Given the description of an element on the screen output the (x, y) to click on. 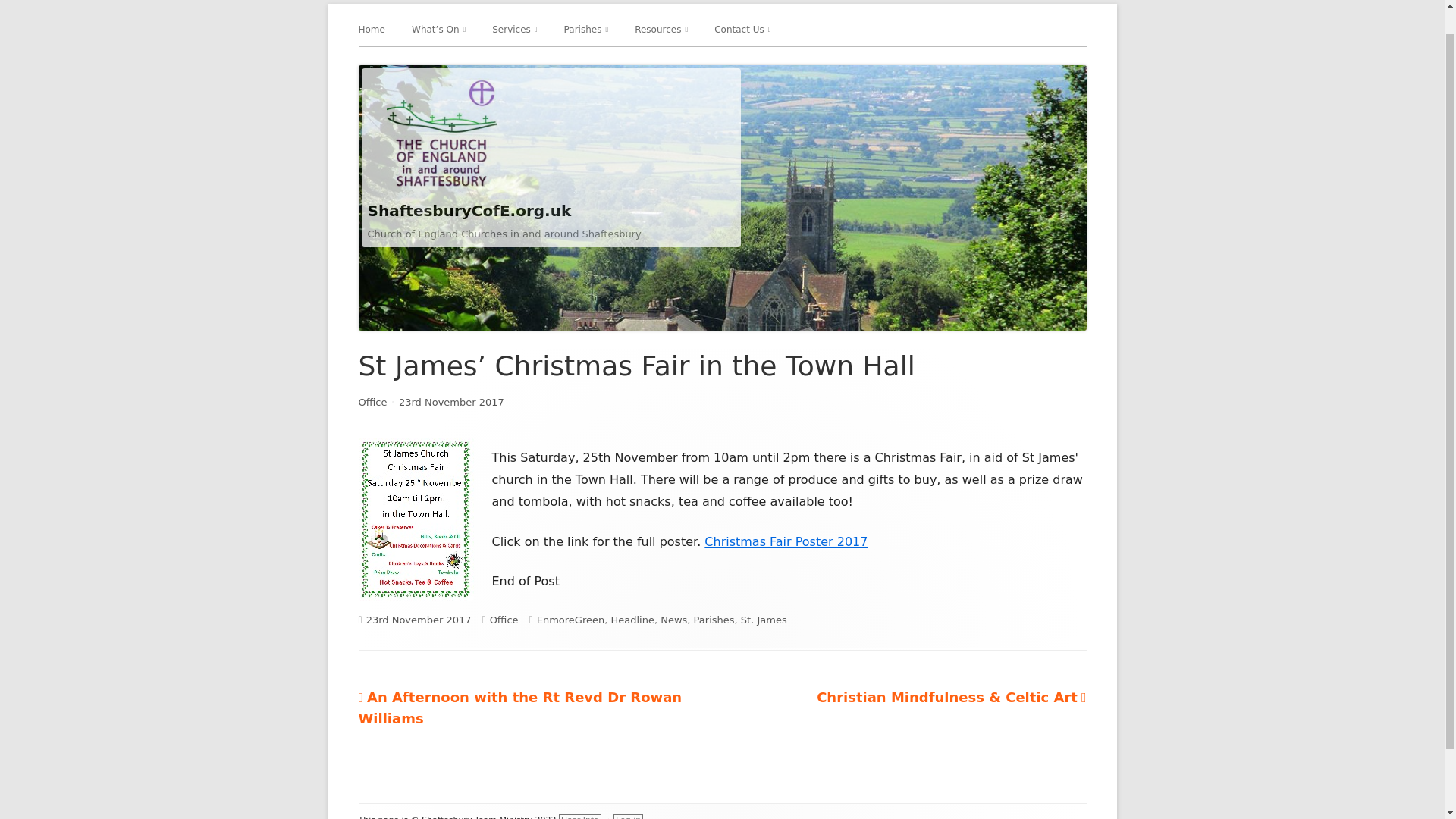
Parishes (586, 29)
Pew Sheets (721, 60)
Resources (660, 29)
Services (514, 29)
Services: Sunday and midweek (578, 60)
Team Office (801, 60)
Everywhere (498, 60)
Office (372, 401)
23rd November 2017 (450, 401)
ShaftesburyCofE.org.uk (468, 211)
